Given the description of an element on the screen output the (x, y) to click on. 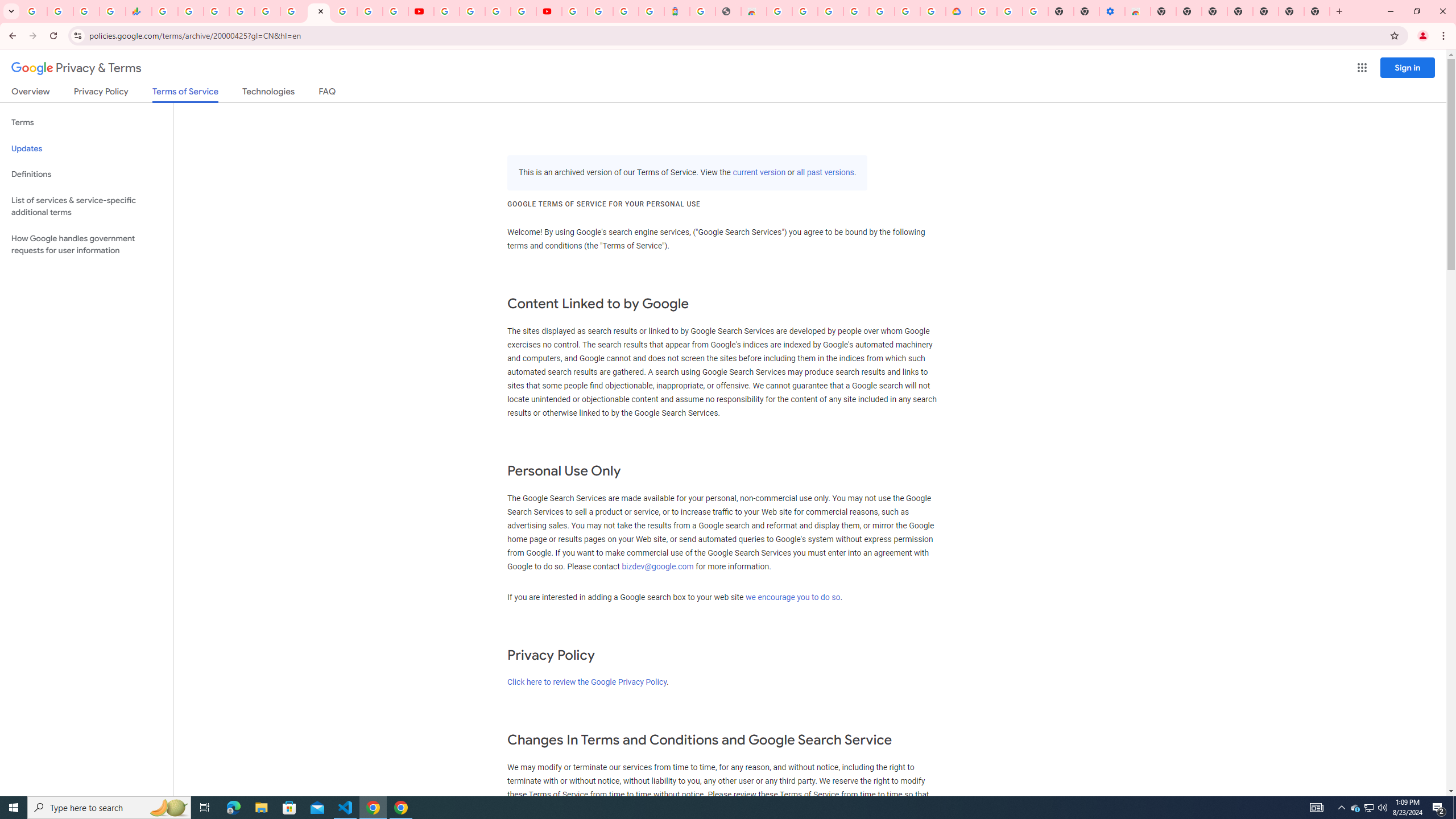
all past versions (825, 172)
New Tab (1316, 11)
we encourage you to do so (792, 596)
